Given the description of an element on the screen output the (x, y) to click on. 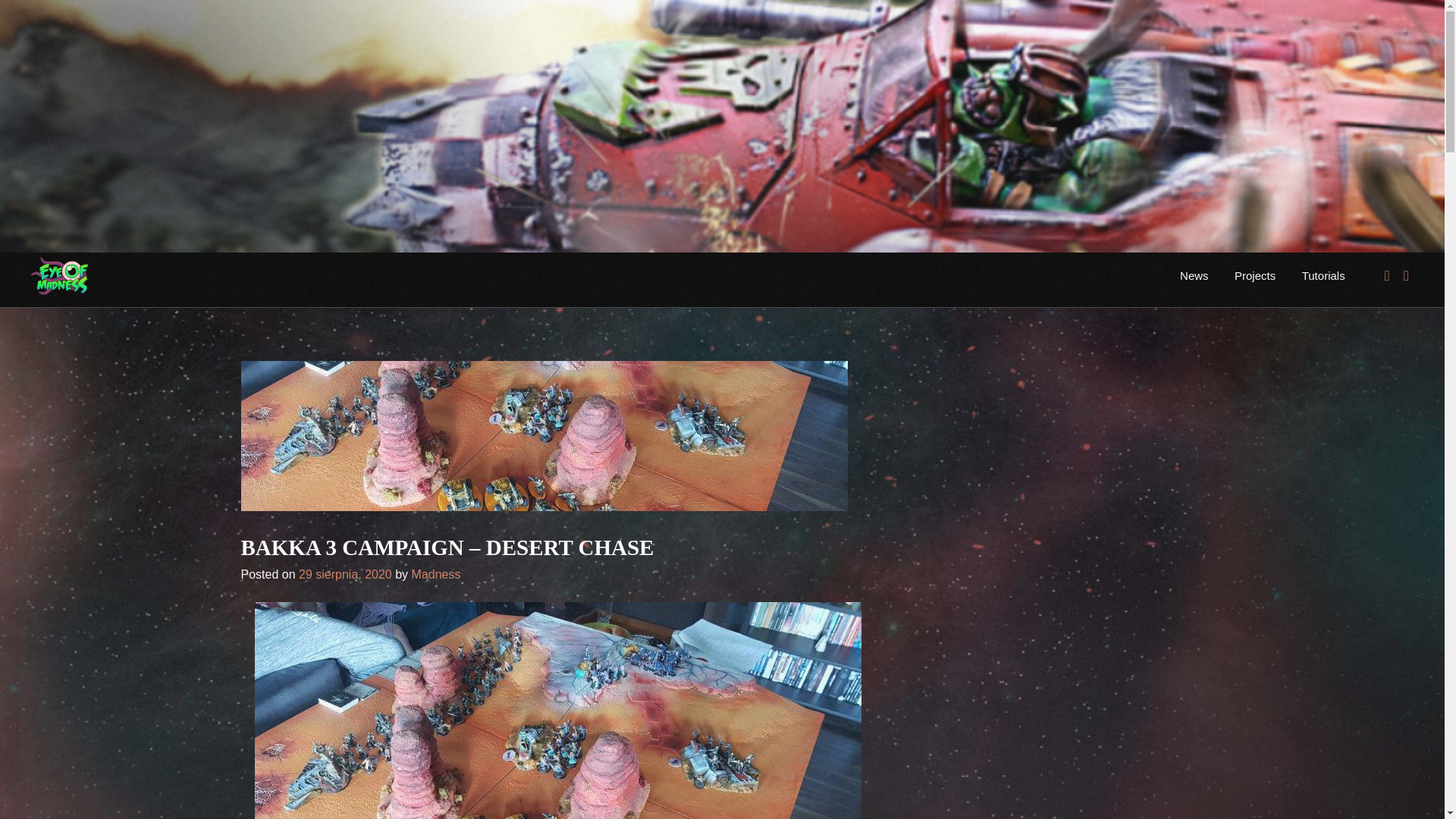
29 sierpnia, 2020 (344, 574)
Tutorials (1323, 275)
News (1194, 275)
Projects (1255, 275)
News (1194, 275)
Eye of Madness (149, 285)
Madness (436, 574)
